Given the description of an element on the screen output the (x, y) to click on. 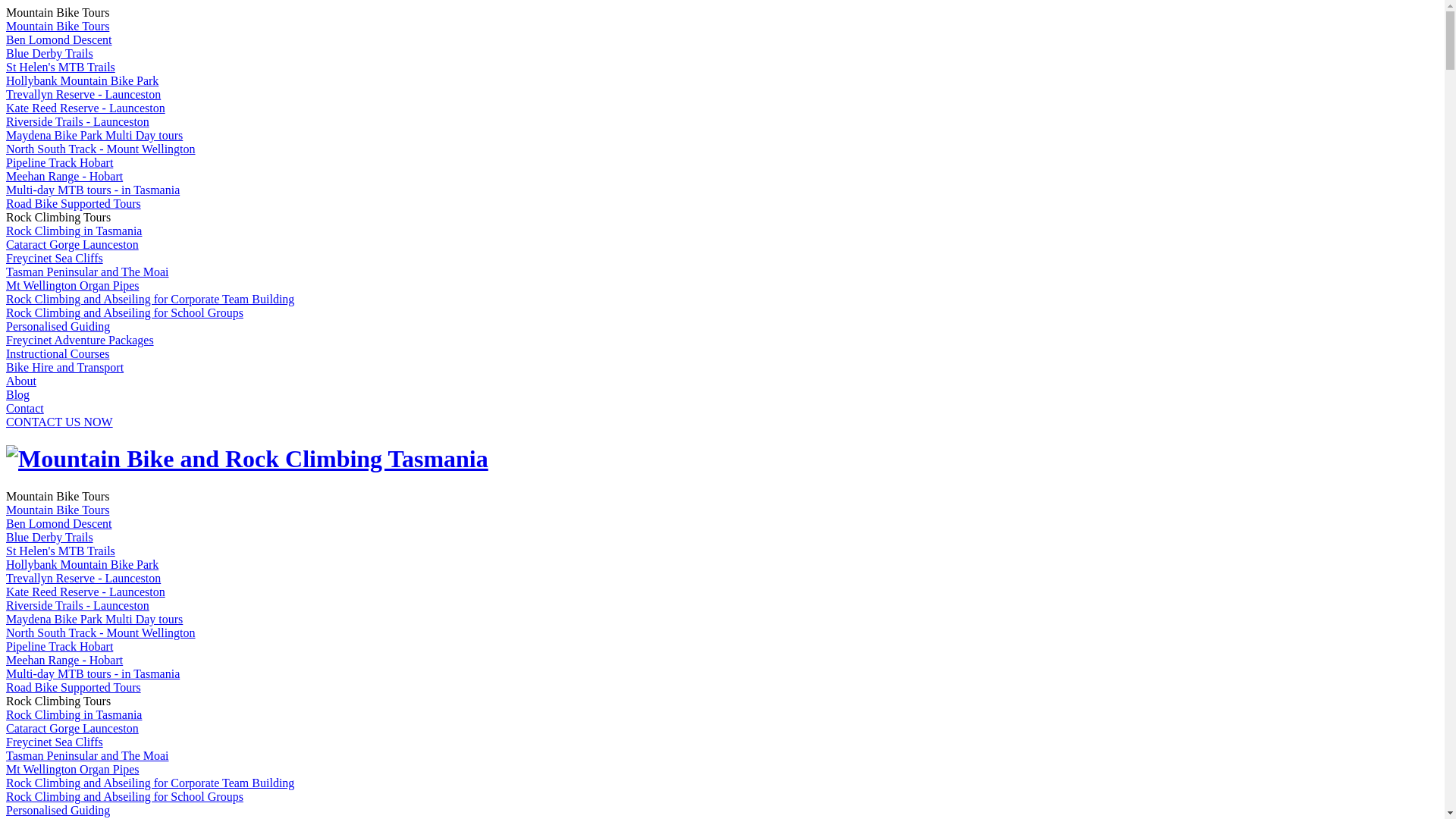
St Helen's MTB Trails Element type: text (60, 550)
Rock Climbing and Abseiling for School Groups Element type: text (124, 796)
Pipeline Track Hobart Element type: text (59, 646)
Maydena Bike Park Multi Day tours Element type: text (94, 618)
Instructional Courses Element type: text (57, 353)
Kate Reed Reserve - Launceston Element type: text (85, 591)
Road Bike Supported Tours Element type: text (73, 686)
Mt Wellington Organ Pipes Element type: text (72, 285)
Cataract Gorge Launceston Element type: text (72, 244)
Multi-day MTB tours - in Tasmania Element type: text (92, 189)
Rock Climbing and Abseiling for Corporate Team Building Element type: text (150, 782)
Rock Climbing and Abseiling for School Groups Element type: text (124, 312)
Riverside Trails - Launceston Element type: text (77, 121)
Mountain Bike Tours Element type: text (57, 509)
Ben Lomond Descent Element type: text (59, 523)
Multi-day MTB tours - in Tasmania Element type: text (92, 673)
Freycinet Adventure Packages Element type: text (79, 339)
Bike Hire and Transport Element type: text (64, 366)
Meehan Range - Hobart Element type: text (64, 175)
Hollybank Mountain Bike Park Element type: text (82, 80)
Trevallyn Reserve - Launceston Element type: text (83, 93)
Road Bike Supported Tours Element type: text (73, 203)
Freycinet Sea Cliffs Element type: text (54, 257)
Tasman Peninsular and The Moai Element type: text (87, 755)
Rock Climbing in Tasmania Element type: text (73, 714)
Trevallyn Reserve - Launceston Element type: text (83, 577)
Freycinet Sea Cliffs Element type: text (54, 741)
Ben Lomond Descent Element type: text (59, 39)
Maydena Bike Park Multi Day tours Element type: text (94, 134)
Blue Derby Trails Element type: text (49, 53)
Riverside Trails - Launceston Element type: text (77, 605)
Contact Element type: text (24, 407)
Tasman Peninsular and The Moai Element type: text (87, 271)
Rock Climbing and Abseiling for Corporate Team Building Element type: text (150, 298)
CONTACT US NOW Element type: text (59, 421)
Blue Derby Trails Element type: text (49, 536)
Mt Wellington Organ Pipes Element type: text (72, 768)
Blog Element type: text (17, 394)
North South Track - Mount Wellington Element type: text (100, 632)
About Element type: text (21, 380)
Kate Reed Reserve - Launceston Element type: text (85, 107)
Mountain Bike Tours Element type: text (57, 25)
Cataract Gorge Launceston Element type: text (72, 727)
Personalised Guiding Element type: text (57, 809)
Meehan Range - Hobart Element type: text (64, 659)
North South Track - Mount Wellington Element type: text (100, 148)
Personalised Guiding Element type: text (57, 326)
Pipeline Track Hobart Element type: text (59, 162)
Hollybank Mountain Bike Park Element type: text (82, 564)
Rock Climbing in Tasmania Element type: text (73, 230)
St Helen's MTB Trails Element type: text (60, 66)
